Given the description of an element on the screen output the (x, y) to click on. 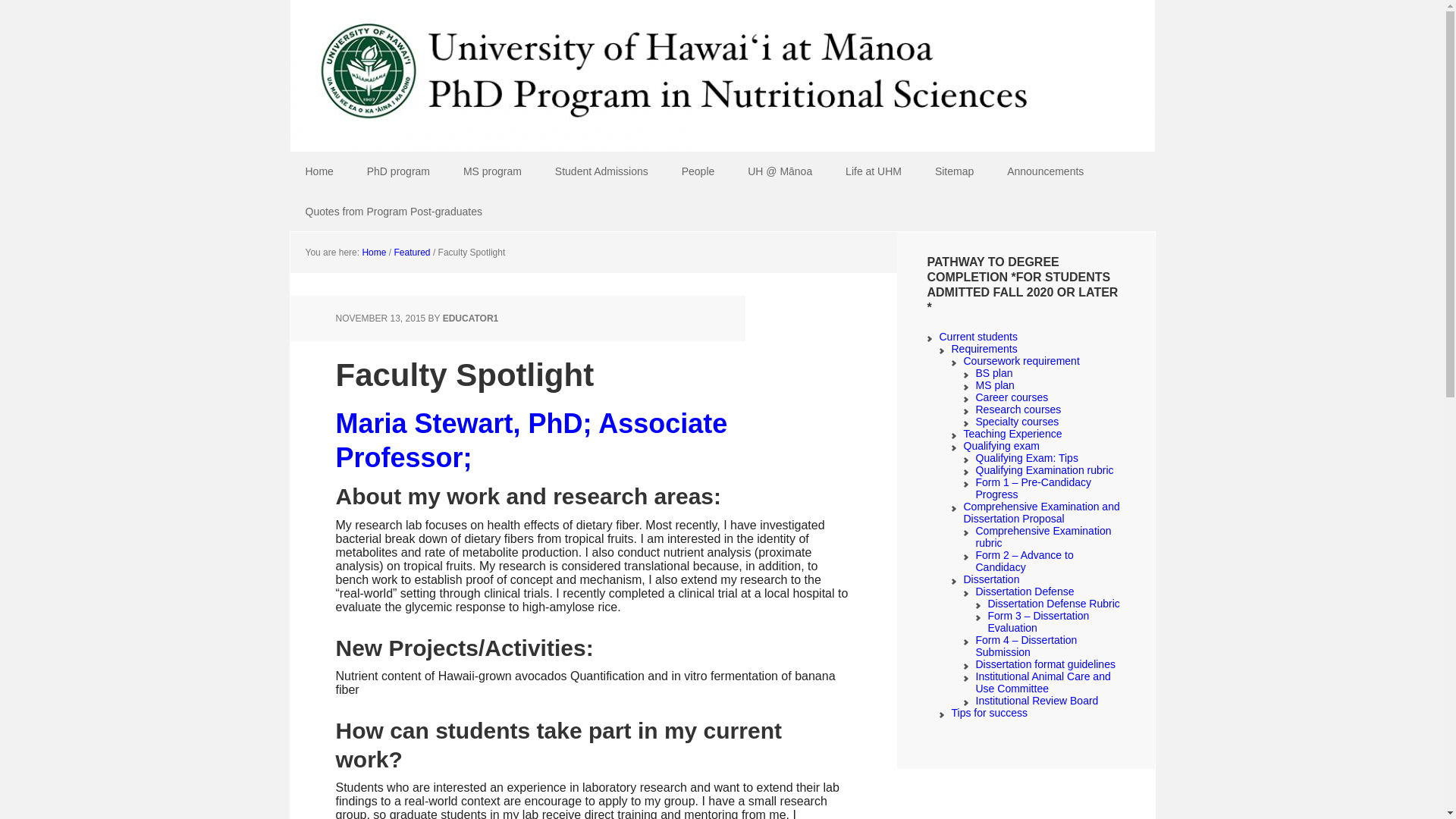
Life at UHM (873, 171)
Specialty courses (1016, 421)
Qualifying exam (1000, 445)
Featured (412, 252)
Requirements (983, 348)
MS program (492, 171)
Career courses (1011, 397)
MS plan (994, 385)
Research courses (1018, 409)
BS plan (993, 372)
PhD program (398, 171)
Sitemap (954, 171)
Announcements (1045, 171)
Teaching Experience (1011, 433)
People (698, 171)
